Given the description of an element on the screen output the (x, y) to click on. 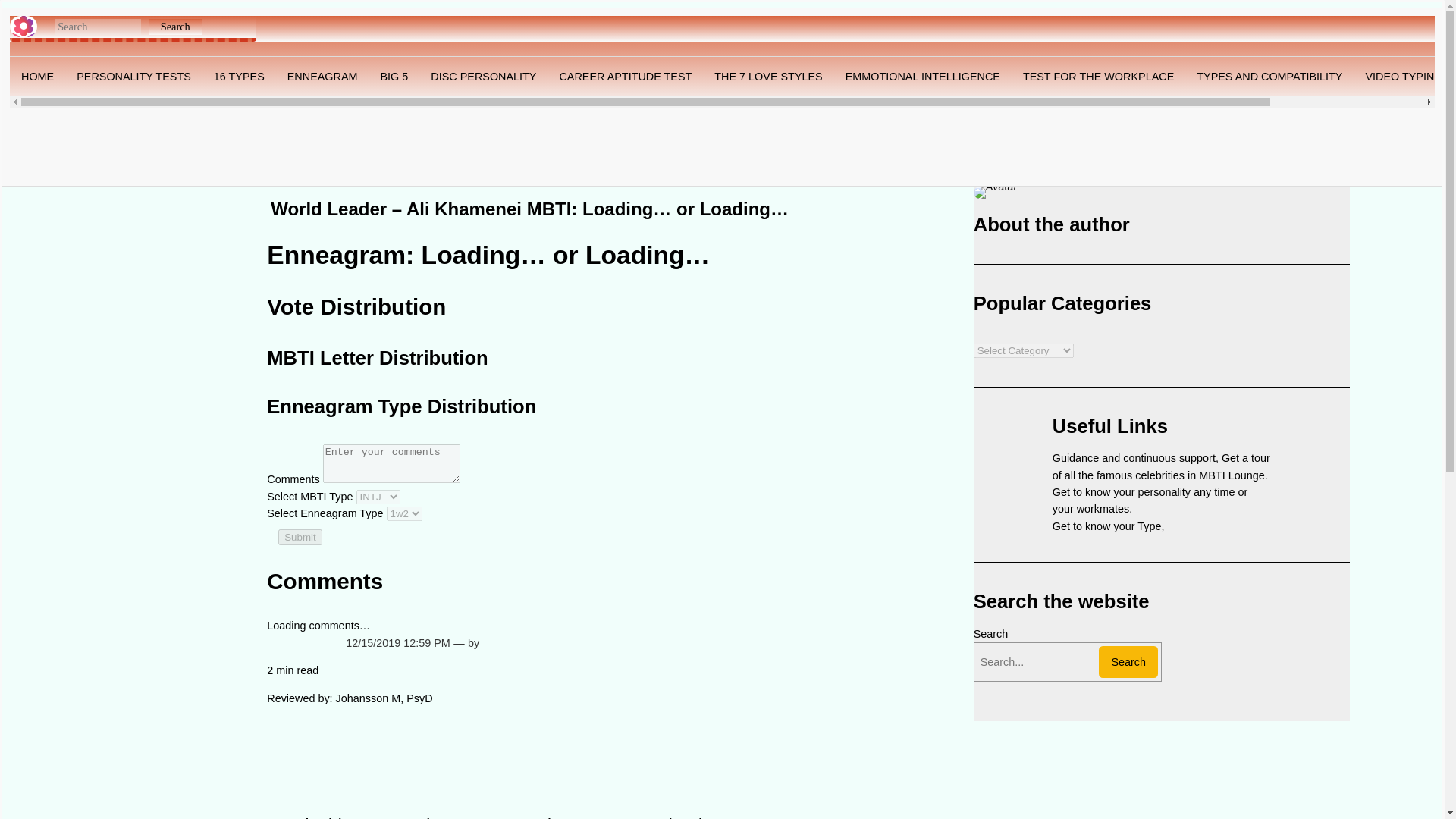
DISC PERSONALITY (483, 76)
TYPES AND COMPATIBILITY (1269, 76)
16 TYPES (239, 76)
Submit (299, 537)
ENNEAGRAM (322, 76)
HOME (37, 76)
TEST FOR THE WORKPLACE (1098, 76)
BIG 5 (394, 76)
EMMOTIONAL INTELLIGENCE (922, 76)
Search (175, 26)
PERSONALITY TESTS (133, 76)
Search (1128, 662)
CAREER APTITUDE TEST (625, 76)
THE 7 LOVE STYLES (767, 76)
